Given the description of an element on the screen output the (x, y) to click on. 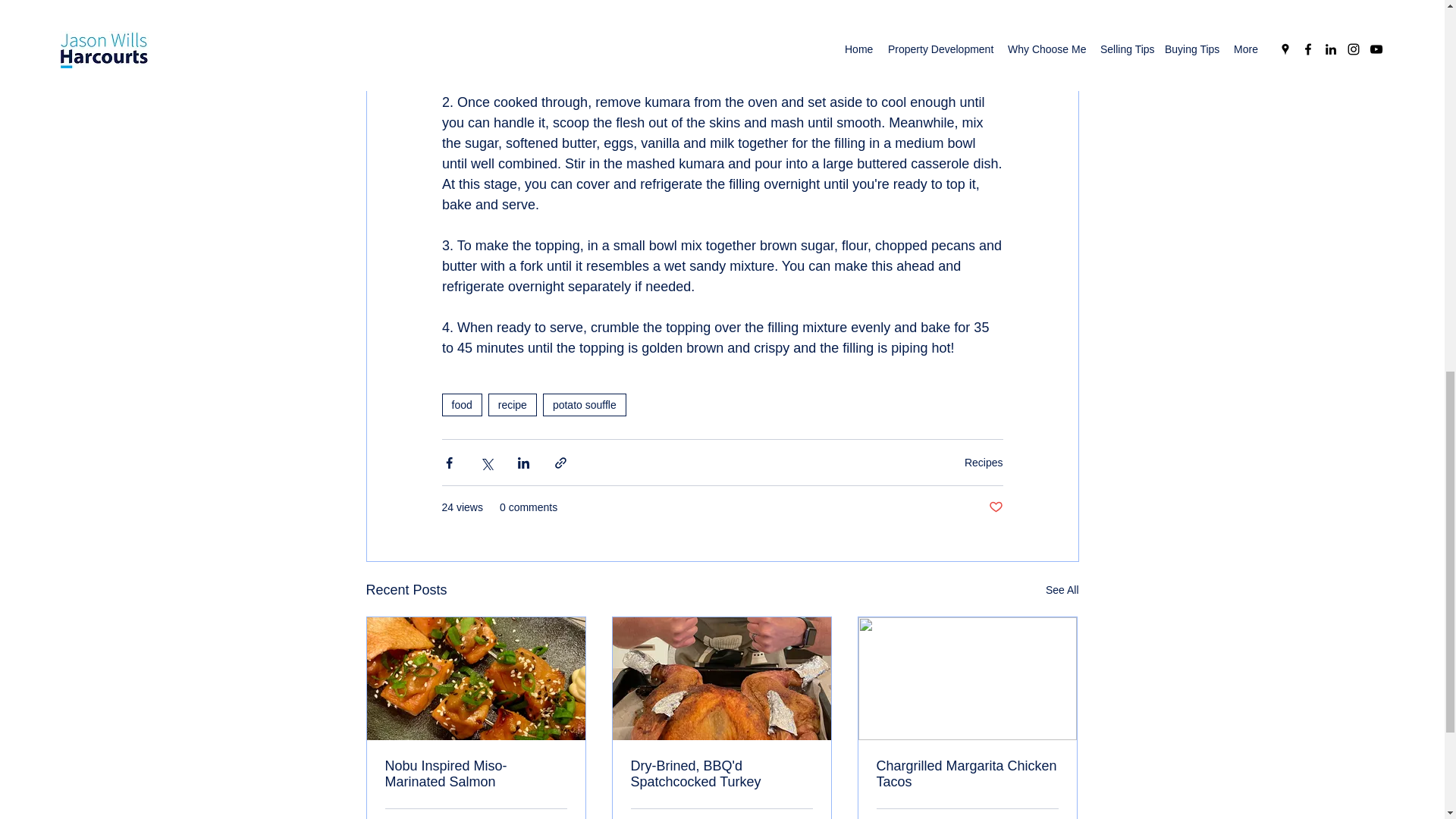
Nobu Inspired Miso-Marinated Salmon (476, 774)
Dry-Brined, BBQ'd Spatchcocked Turkey (721, 774)
Post not marked as liked (995, 507)
See All (1061, 590)
Recipes (983, 462)
food (461, 404)
potato souffle (584, 404)
recipe (512, 404)
